Given the description of an element on the screen output the (x, y) to click on. 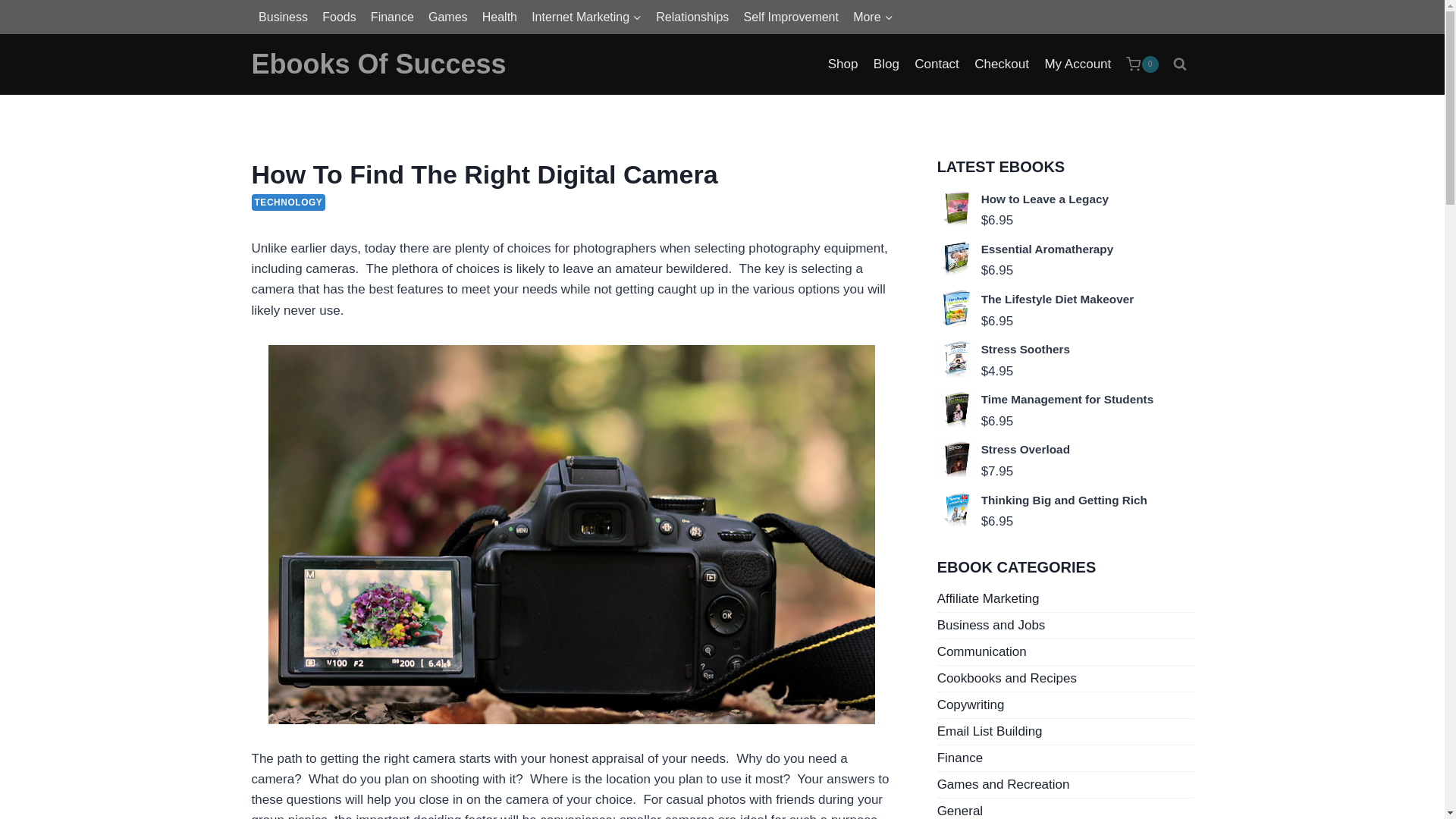
TECHNOLOGY (288, 202)
0 (1141, 64)
Blog (886, 63)
My Account (1077, 63)
Relationships (692, 17)
Shop (843, 63)
More (873, 17)
Ebooks Of Success (378, 63)
Games (447, 17)
Internet Marketing (586, 17)
Finance (391, 17)
Business (283, 17)
Checkout (1001, 63)
Health (499, 17)
Contact (936, 63)
